Given the description of an element on the screen output the (x, y) to click on. 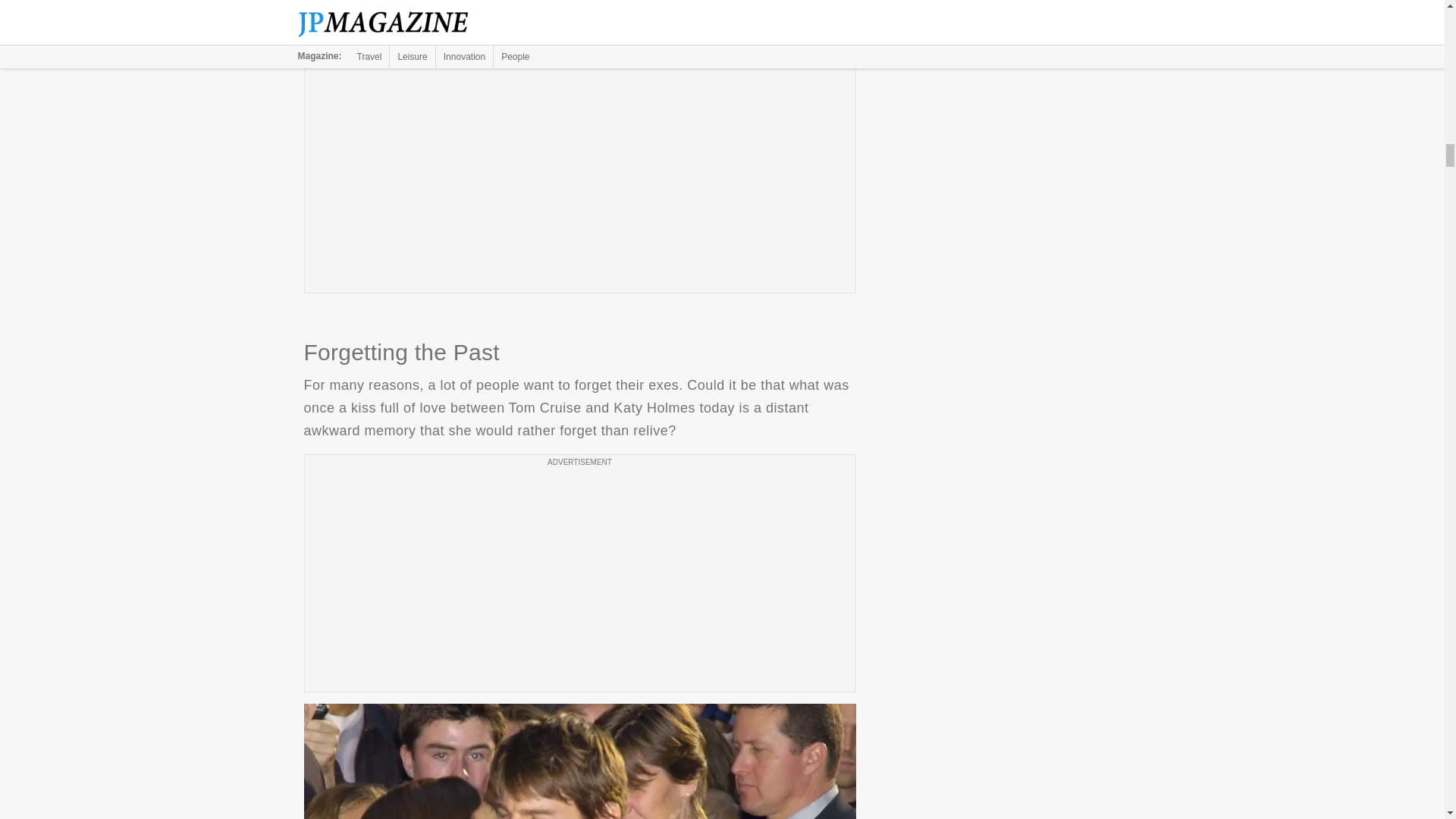
Forgetting the Past (579, 761)
